Given the description of an element on the screen output the (x, y) to click on. 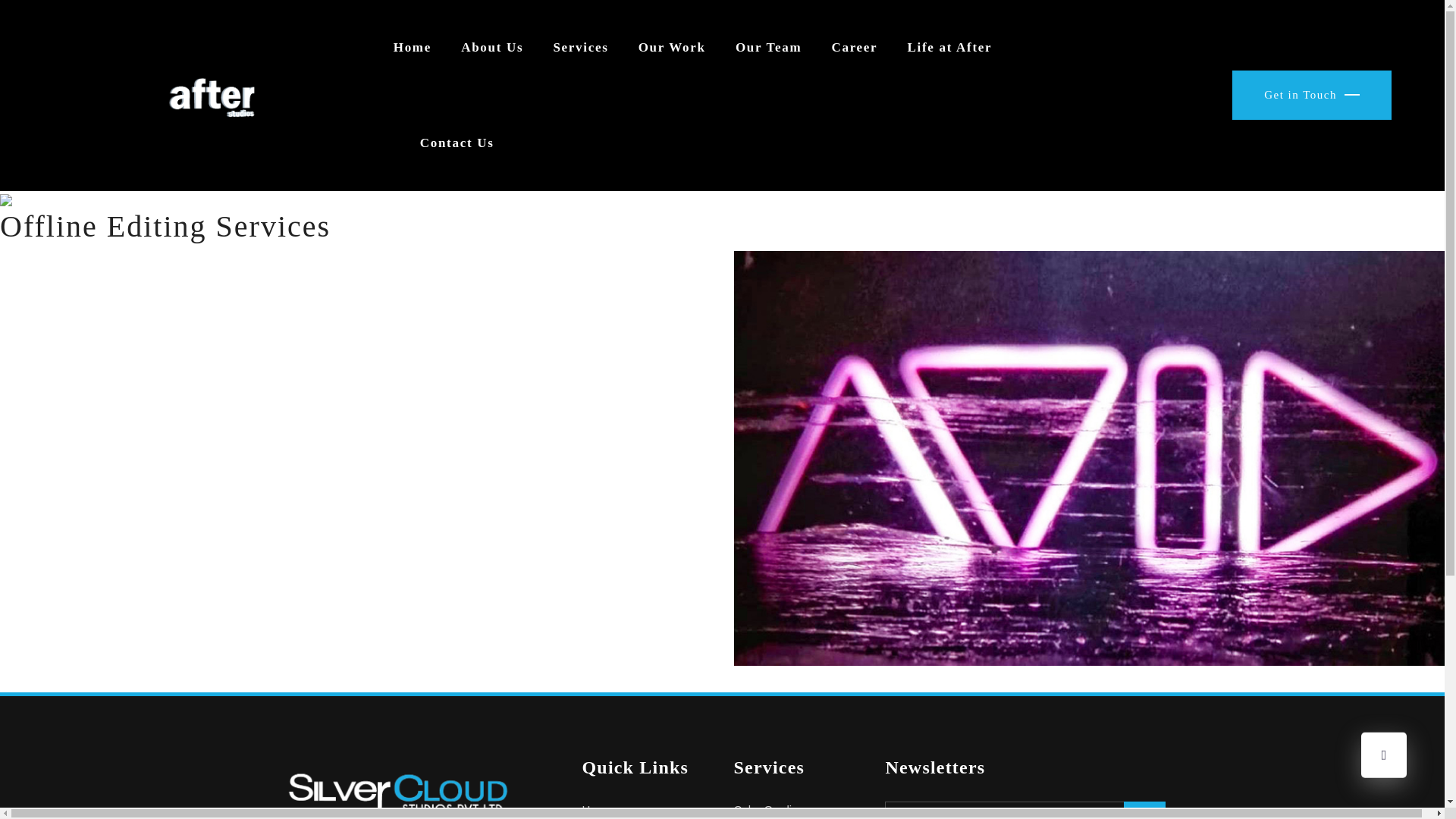
About Us (491, 47)
Color Grading (797, 810)
Home (645, 810)
Services (580, 47)
Life at After (949, 47)
Home (411, 47)
Contact Us (457, 142)
Career (854, 47)
Get in Touch (1311, 95)
Our Work (672, 47)
Our Team (768, 47)
